Given the description of an element on the screen output the (x, y) to click on. 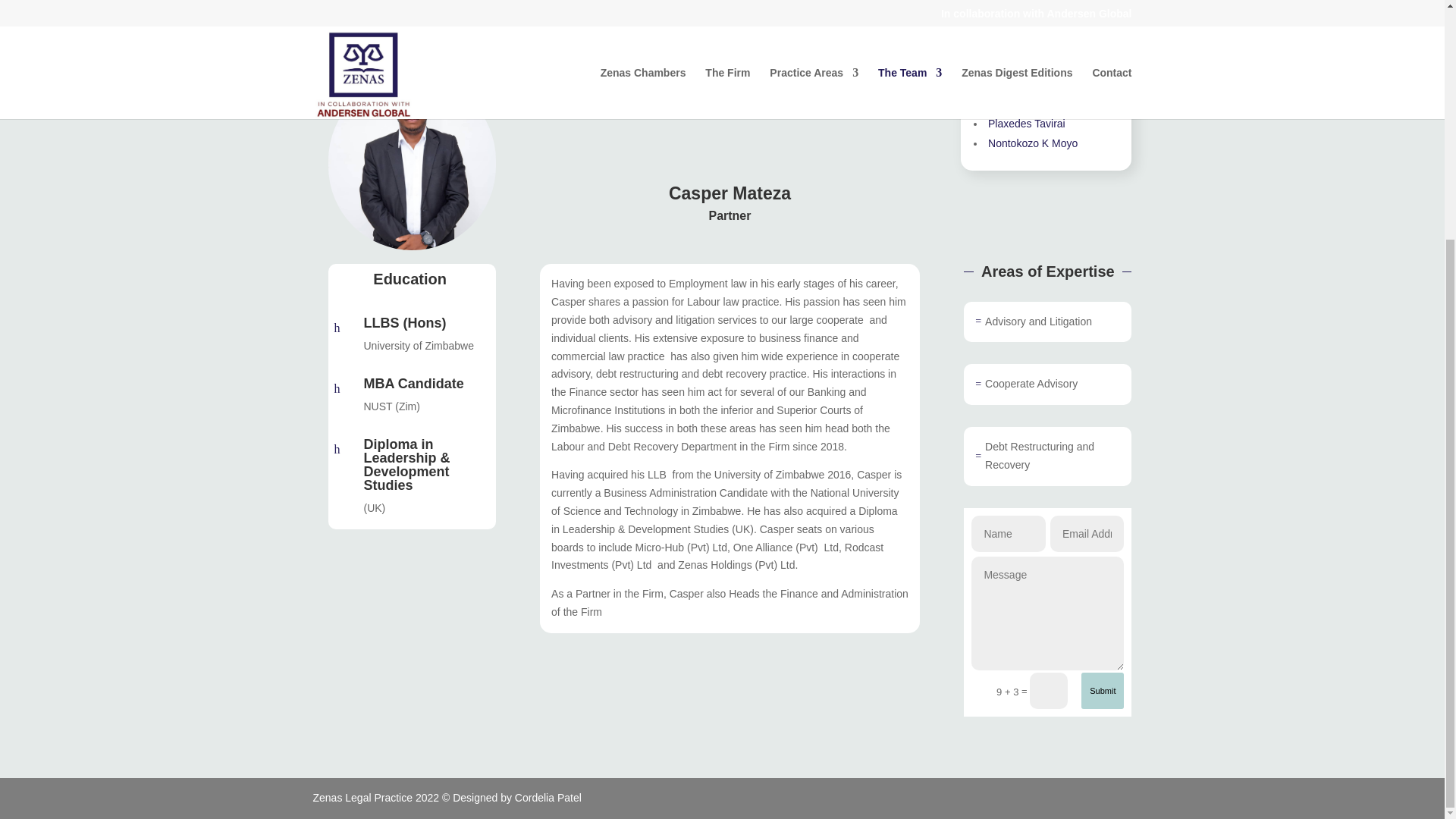
WhatsApp Image 2024-01-16 at 10.59.00 (411, 163)
Four-Lawyers (614, 58)
